Given the description of an element on the screen output the (x, y) to click on. 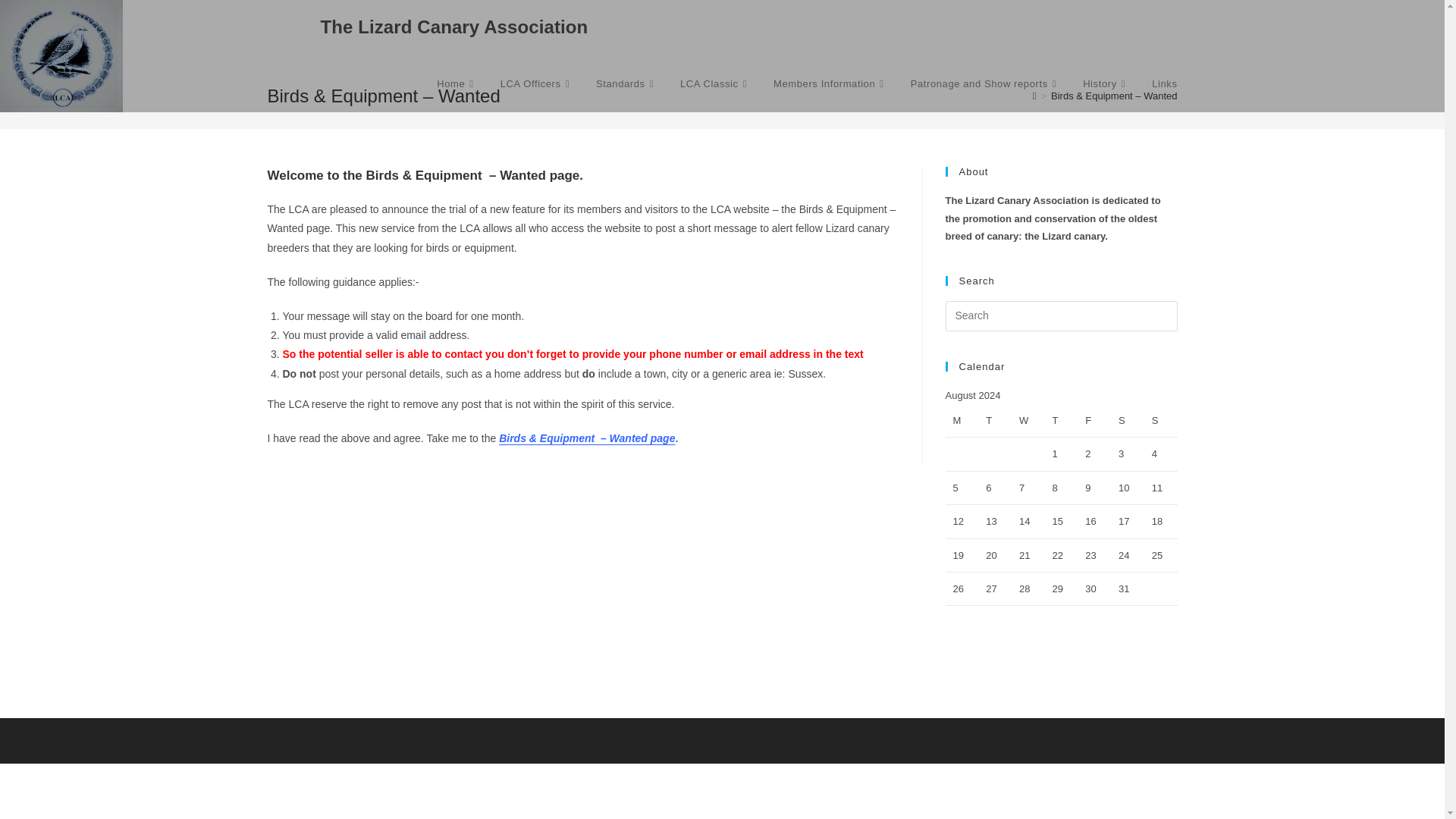
Members Information (830, 84)
Friday (1093, 420)
Thursday (1061, 420)
Tuesday (994, 420)
Home (456, 84)
Standards (626, 84)
Sunday (1160, 420)
Saturday (1127, 420)
LCA Classic (714, 84)
The Lizard Canary Association (454, 26)
Monday (961, 420)
History (1105, 84)
Wednesday (1028, 420)
LCA Officers (537, 84)
Patronage and Show reports (985, 84)
